Given the description of an element on the screen output the (x, y) to click on. 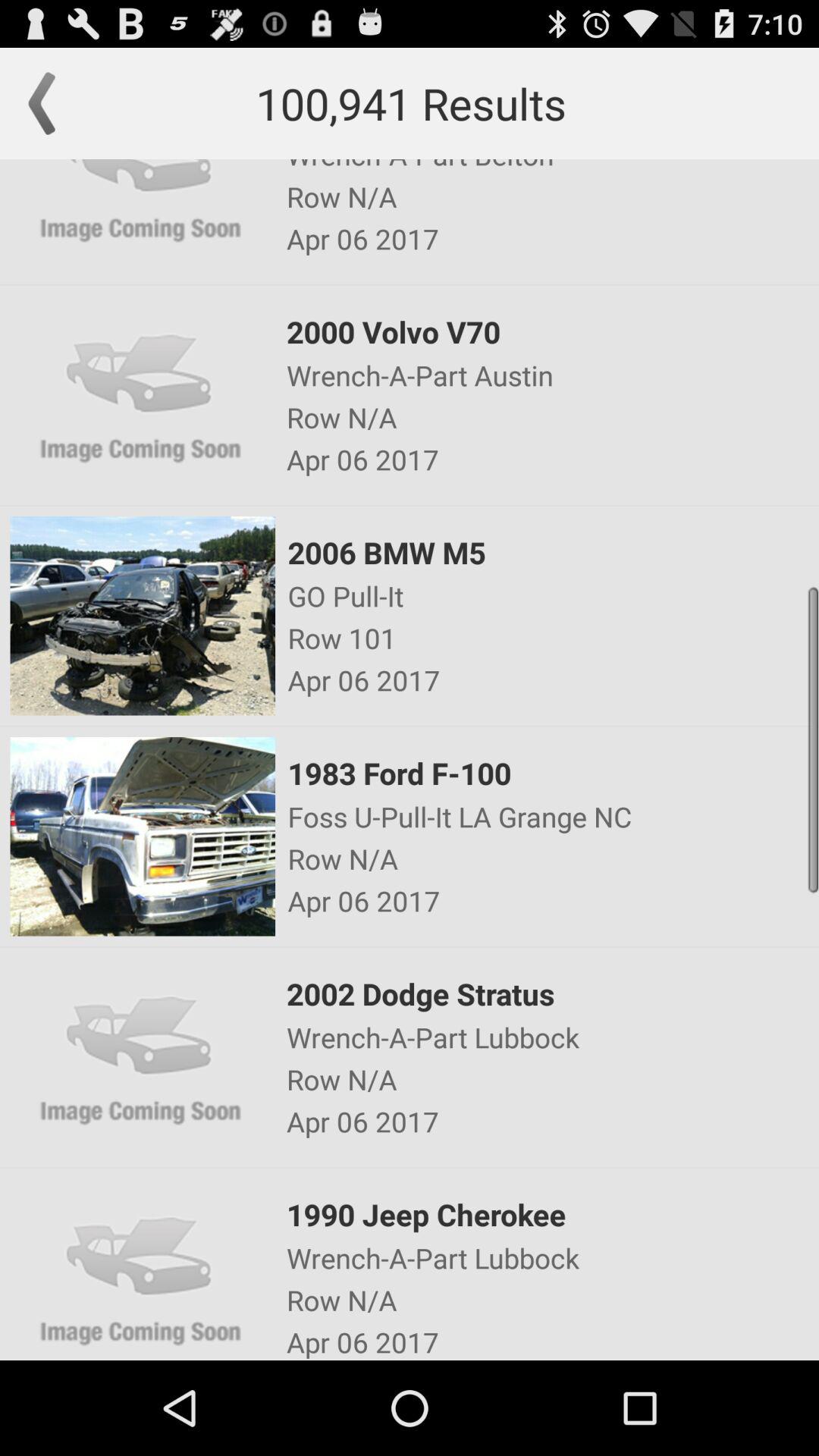
jump to foss u pull (551, 816)
